Given the description of an element on the screen output the (x, y) to click on. 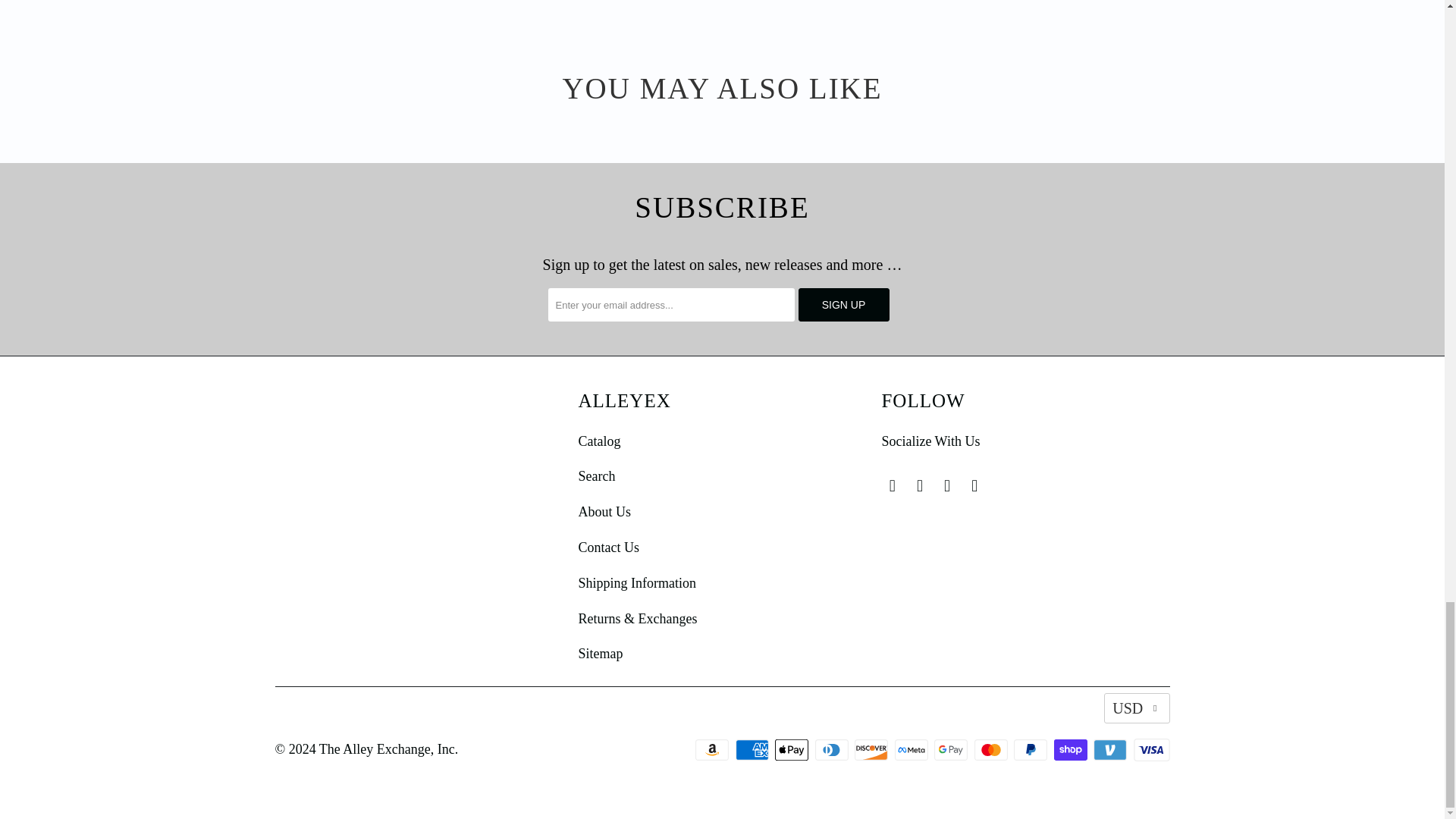
Google Pay (952, 749)
Email The Alley Exchange, Inc (975, 485)
Visa (1150, 749)
Shop Pay (1072, 749)
The Alley Exchange, Inc on Pinterest (919, 485)
Sign Up (842, 304)
Meta Pay (913, 749)
Venmo (1111, 749)
Mastercard (992, 749)
The Alley Exchange, Inc on Instagram (947, 485)
Discover (872, 749)
Diners Club (831, 749)
The Alley Exchange, Inc on Facebook (892, 485)
Amazon (713, 749)
PayPal (1031, 749)
